Given the description of an element on the screen output the (x, y) to click on. 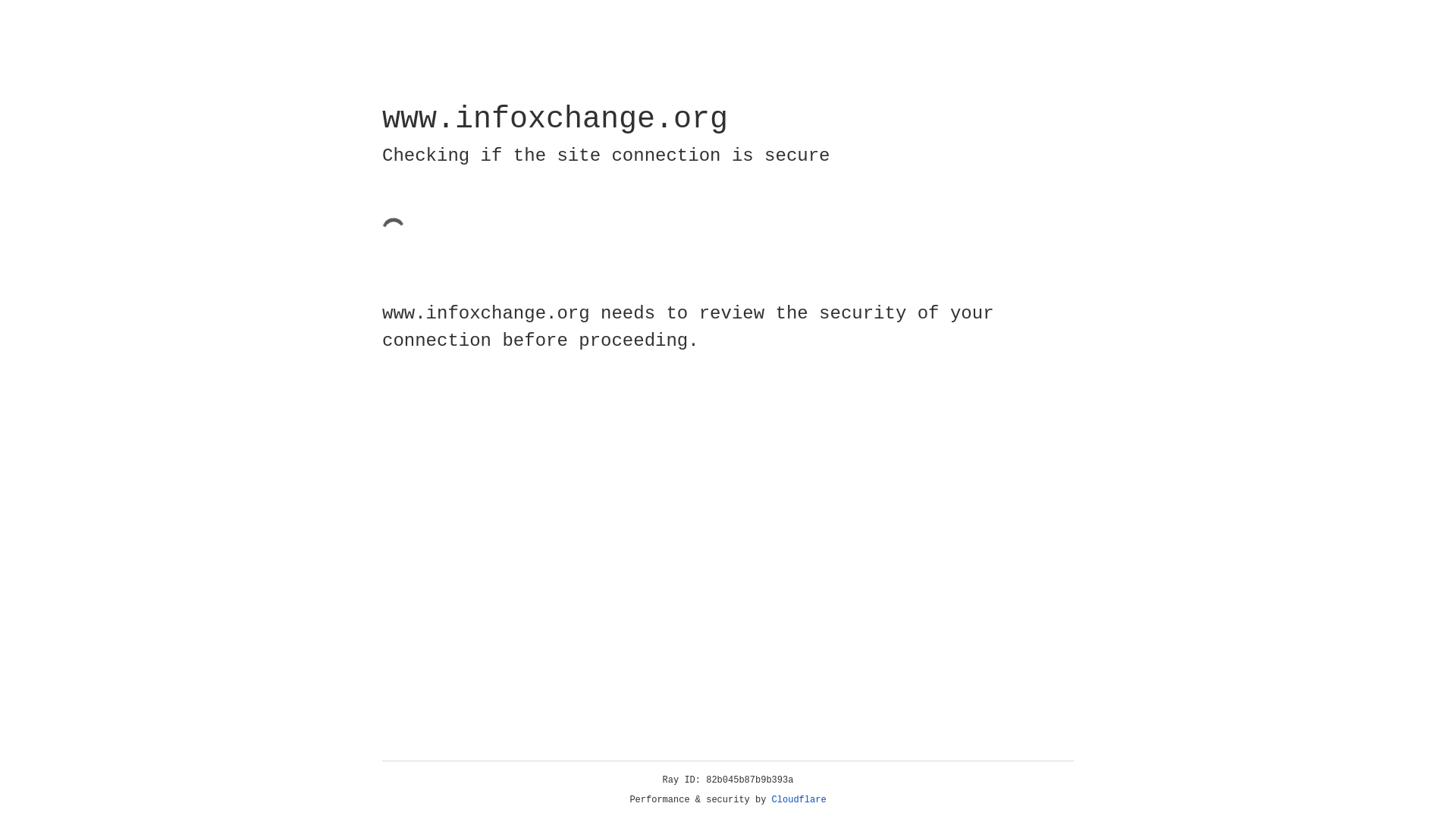
Cloudflare Element type: text (798, 799)
